Given the description of an element on the screen output the (x, y) to click on. 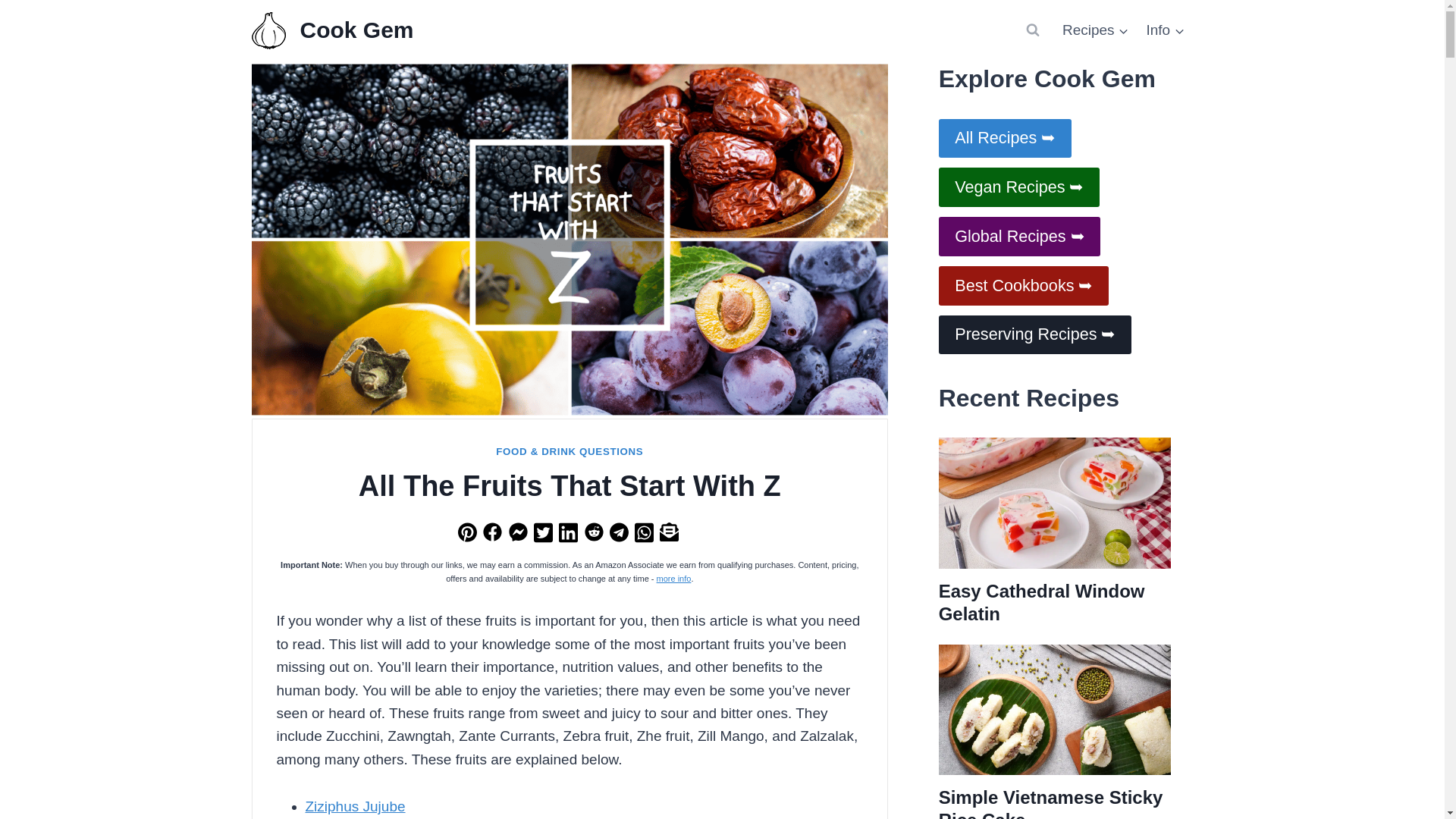
Recipes (1095, 29)
Cook Gem (332, 30)
Ziziphus Jujube (354, 806)
Info (1164, 29)
more info (673, 578)
